Given the description of an element on the screen output the (x, y) to click on. 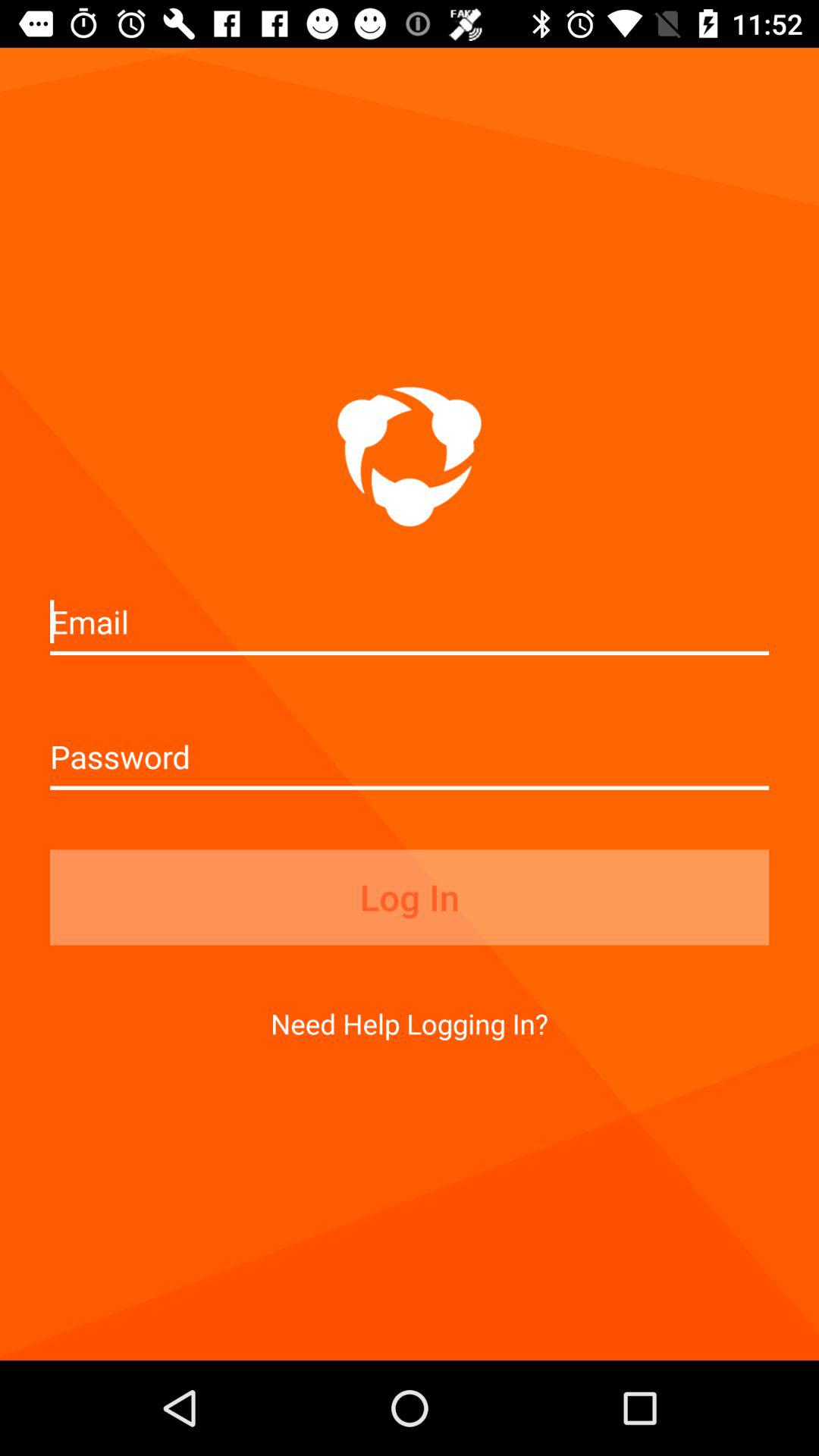
tap need help logging item (409, 1023)
